Given the description of an element on the screen output the (x, y) to click on. 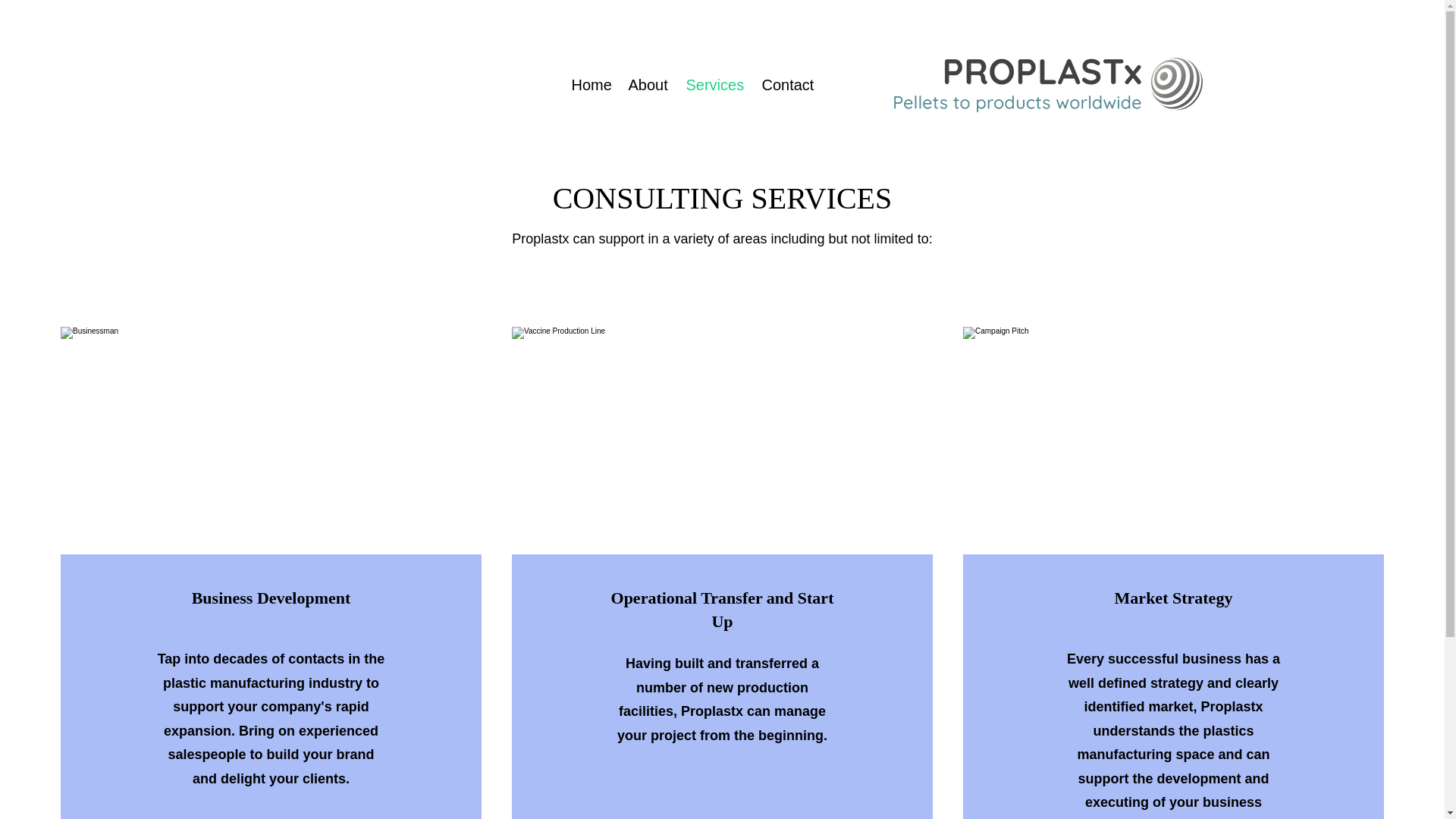
Services (713, 84)
About (646, 84)
Contact (785, 84)
Home (587, 84)
